Given the description of an element on the screen output the (x, y) to click on. 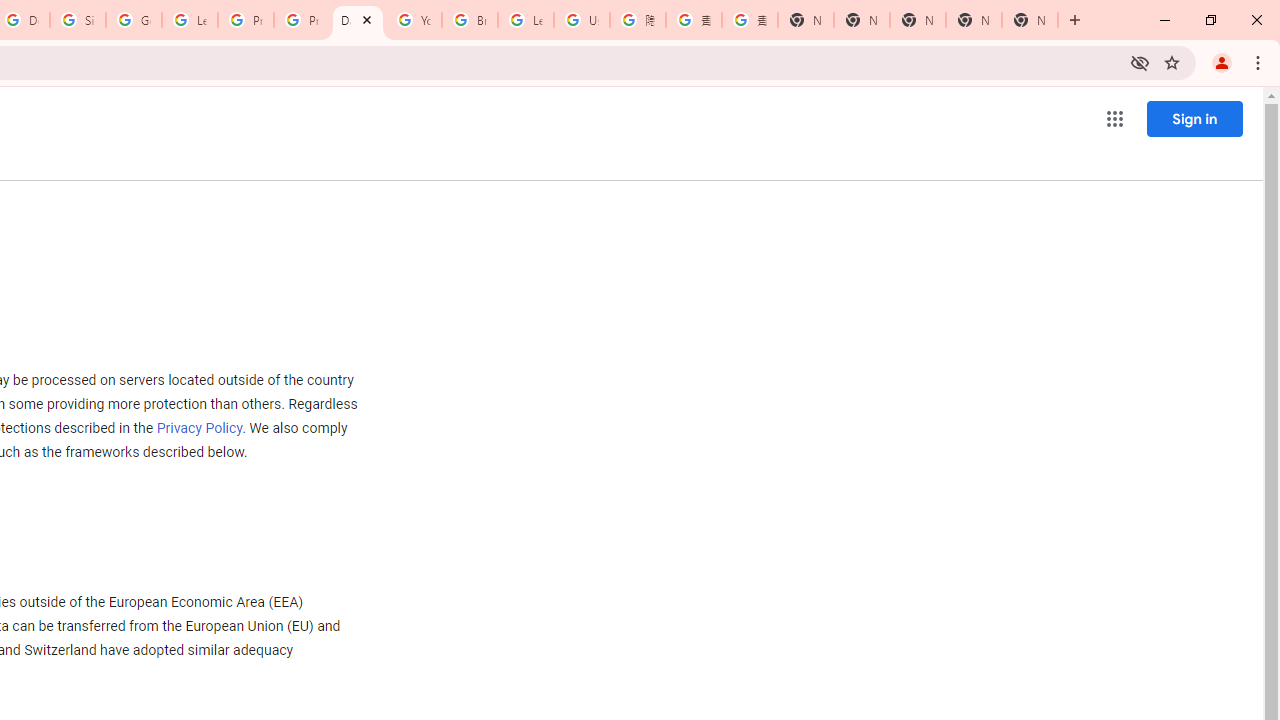
Privacy Help Center - Policies Help (301, 20)
Sign in - Google Accounts (77, 20)
New Tab (1030, 20)
